Given the description of an element on the screen output the (x, y) to click on. 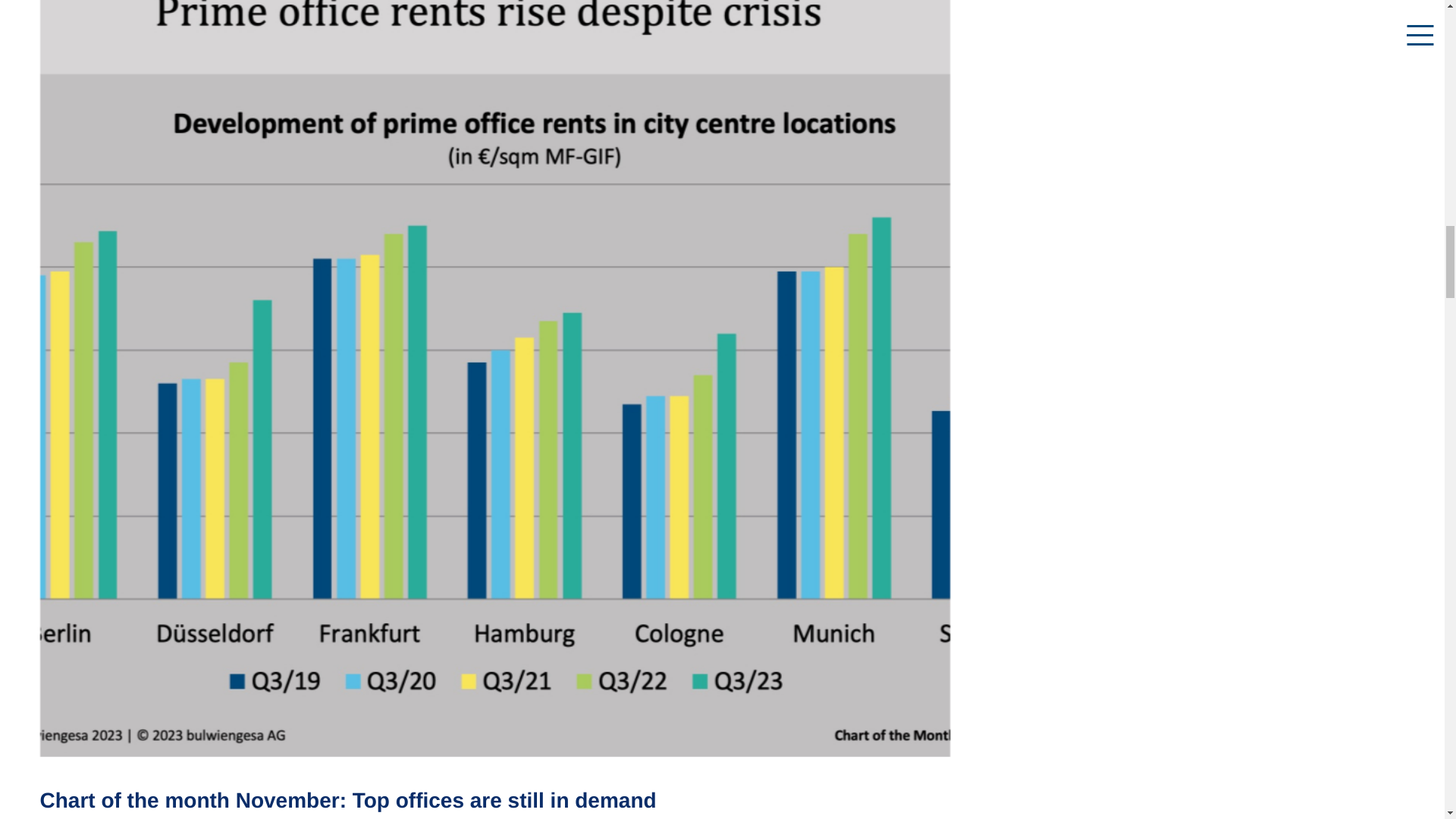
Chart of the month November: Top offices are still in demand (347, 800)
